Given the description of an element on the screen output the (x, y) to click on. 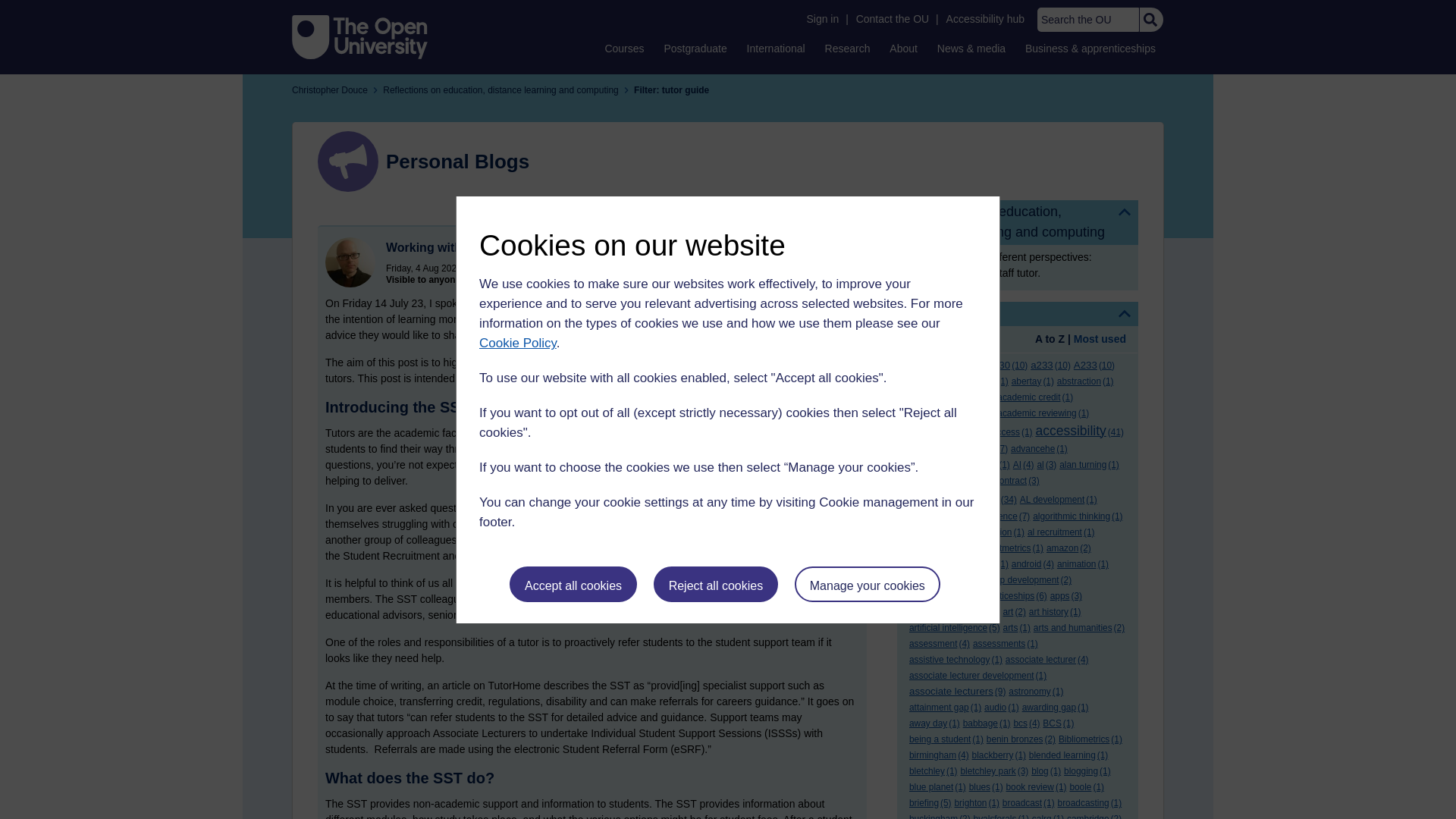
Christopher Douce (349, 261)
Postgraduate (695, 48)
Search (1149, 19)
Sign in (822, 19)
Contact the OU (892, 19)
Tags (1017, 313)
Accept all cookies (573, 583)
Accessibility hub (985, 19)
Reject all cookies (715, 583)
